Given the description of an element on the screen output the (x, y) to click on. 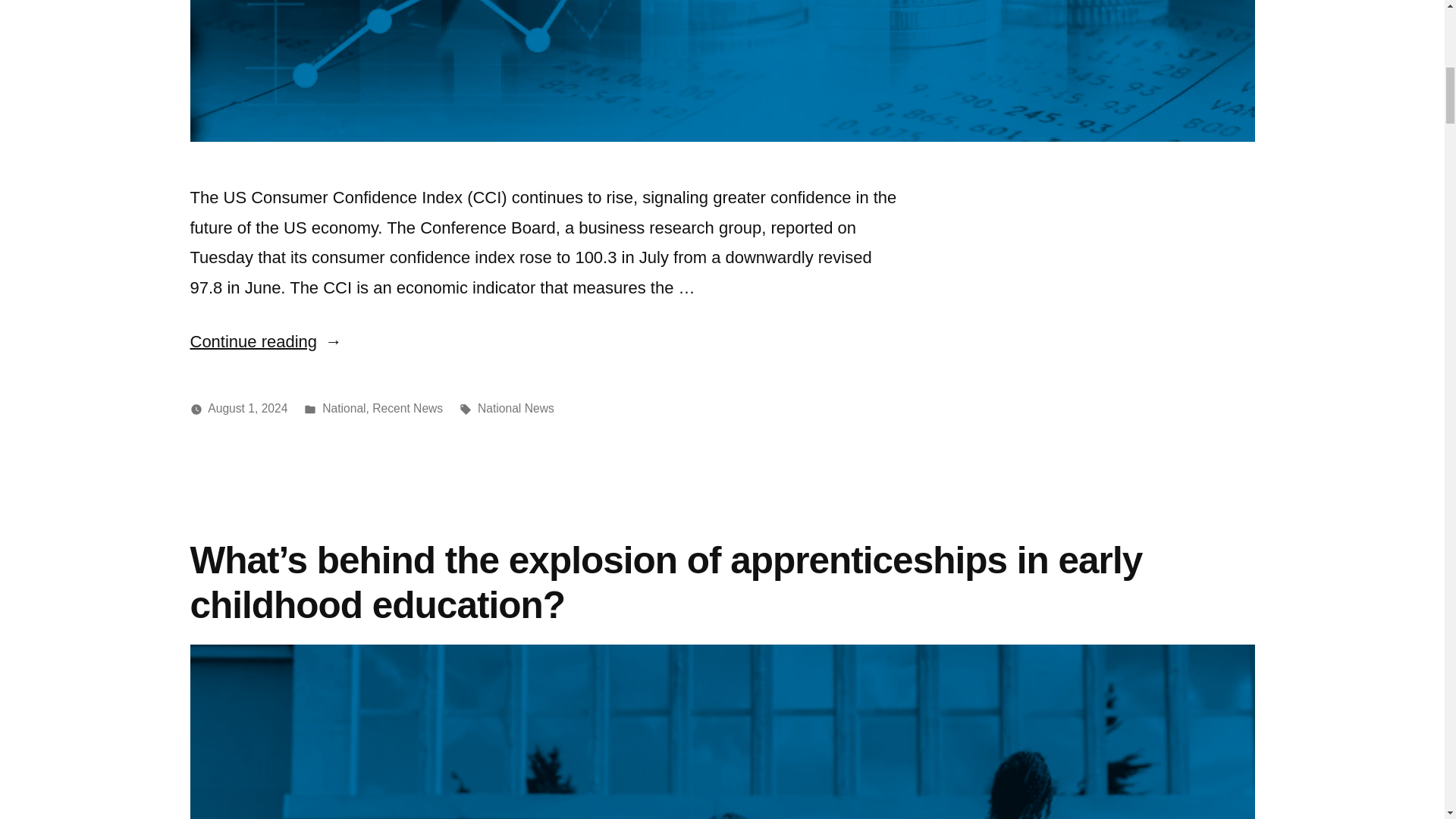
National (343, 408)
August 1, 2024 (247, 408)
Continue reading (265, 341)
National News (515, 408)
Recent News (407, 408)
